Given the description of an element on the screen output the (x, y) to click on. 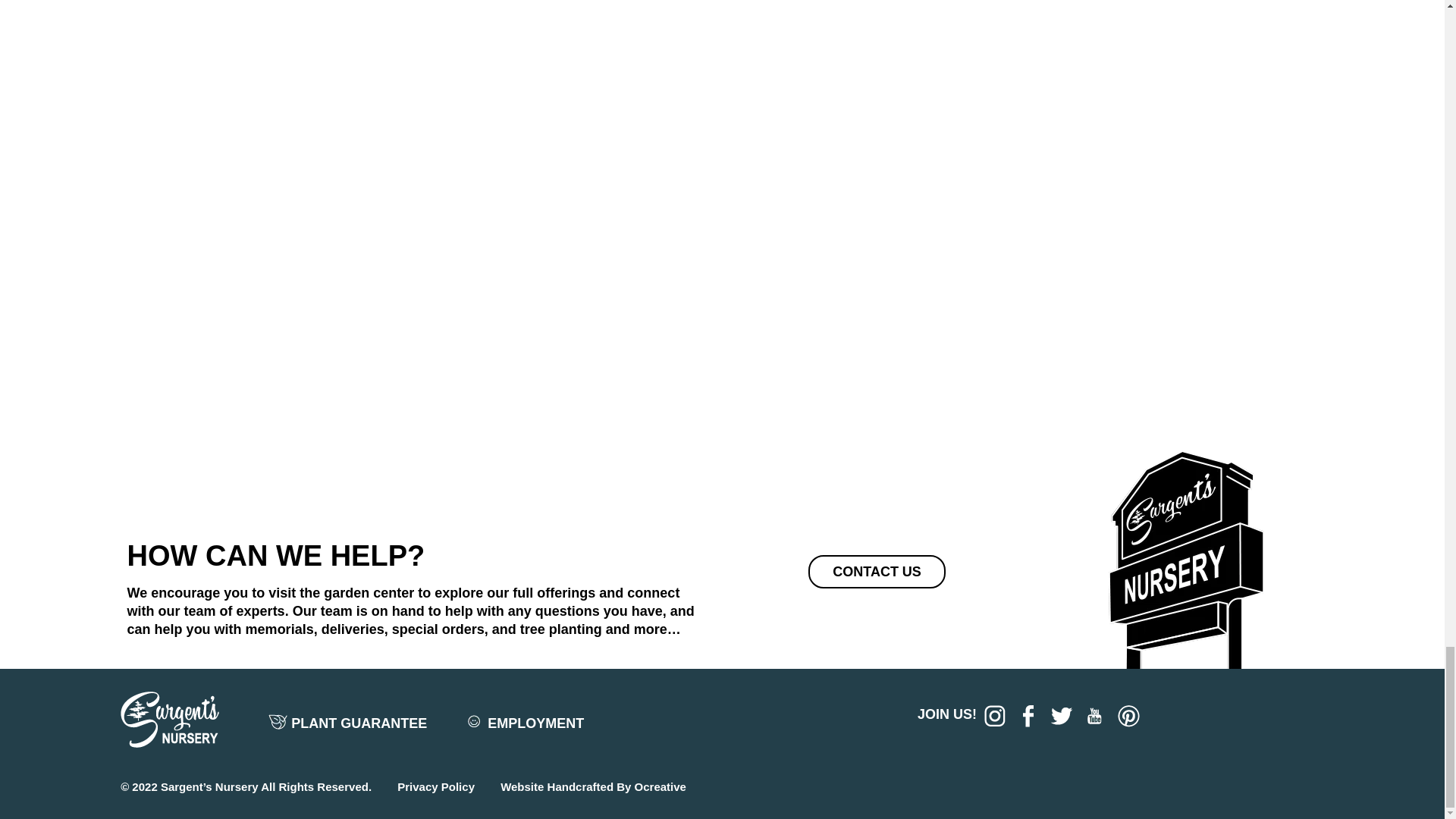
Sargents Nursery (1186, 457)
